Given the description of an element on the screen output the (x, y) to click on. 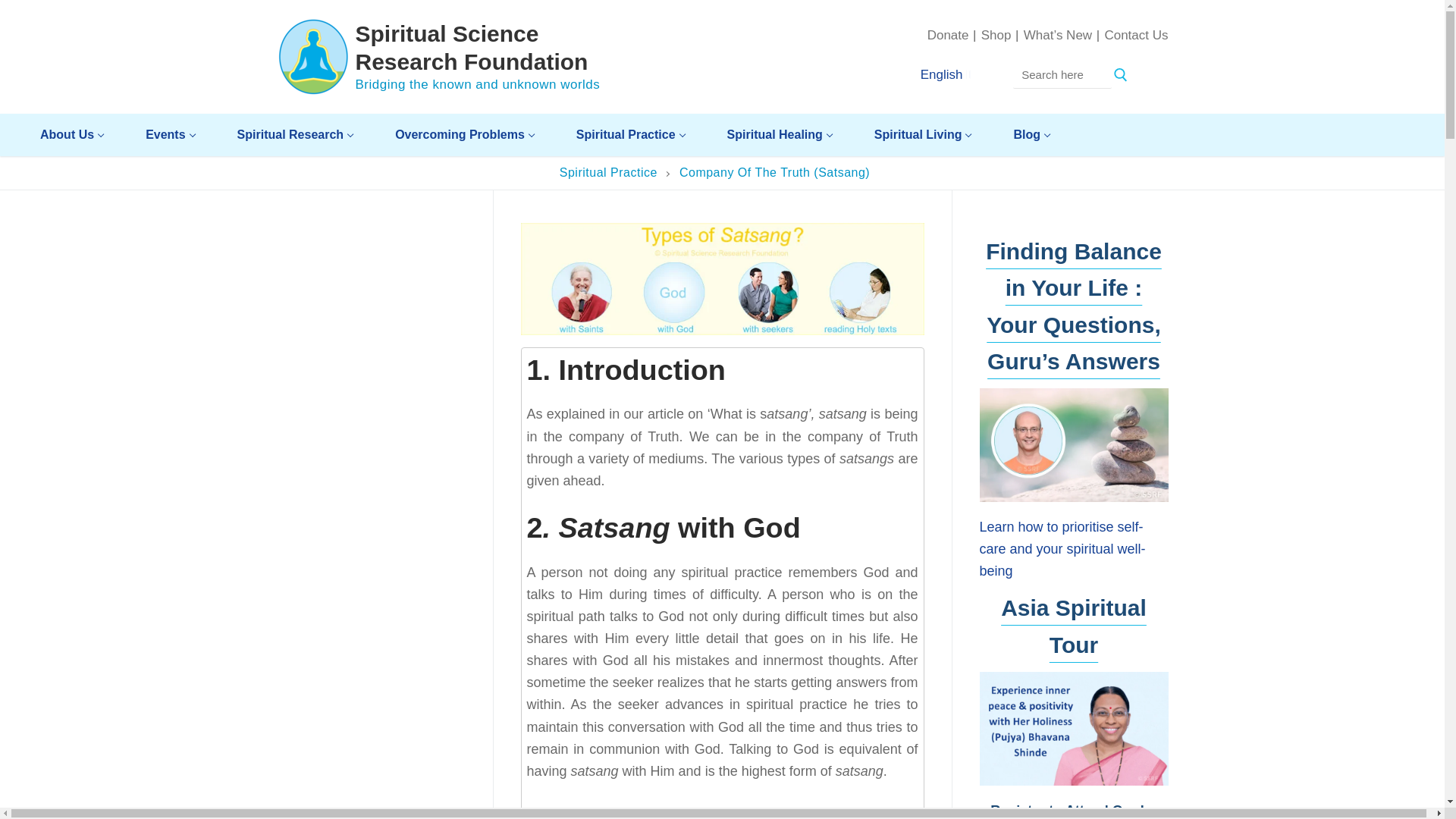
Contact Us (1135, 34)
Spiritual Science Research Foundation (478, 48)
Search for: (1062, 73)
Shop (996, 34)
Donate (948, 34)
